Given the description of an element on the screen output the (x, y) to click on. 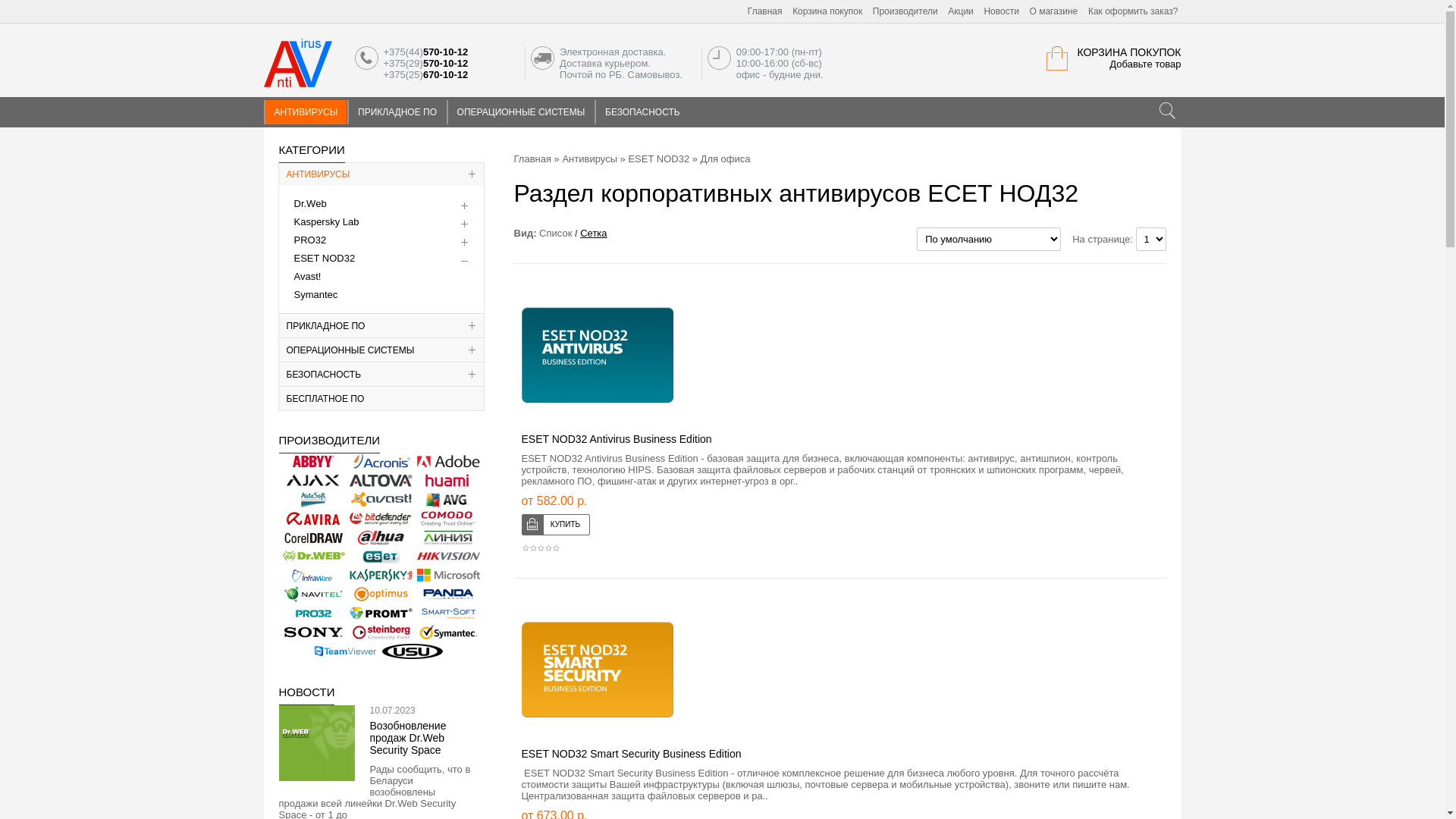
HIKVISION Element type: hover (448, 556)
BitDefender Element type: hover (380, 518)
ABBYY Element type: hover (313, 461)
Corel Element type: hover (313, 537)
Adobe Element type: hover (448, 461)
Amazfit Element type: hover (448, 480)
ESET NOD32 Element type: hover (380, 556)
Kaspersky Lab Element type: hover (380, 575)
Kaspersky Lab Element type: text (326, 221)
DevLine Element type: hover (448, 537)
Avast! Element type: text (307, 276)
Symantec Norton Element type: hover (448, 632)
Dahua Element type: hover (380, 537)
InfraWare Element type: hover (313, 575)
Optimus Element type: hover (380, 594)
SteinBerg Element type: hover (380, 632)
Microsoft Element type: hover (448, 575)
ESET NOD32 Element type: text (324, 257)
Panda Element type: hover (448, 594)
Autosoft Element type: hover (313, 499)
+375(44)570-10-12
+375(29)570-10-12
+375(25)670-10-12 Element type: text (439, 63)
AVG Element type: hover (448, 499)
PRO32 Element type: text (310, 239)
USU Element type: hover (411, 650)
Altova Element type: hover (380, 480)
Avast Element type: hover (380, 499)
Avira Element type: hover (313, 518)
Navitel Element type: hover (313, 594)
+375(44)570-10-12
+375(29)570-10-12
+375(25)670-10-12 Element type: hover (366, 58)
PRO32 Element type: hover (313, 613)
ESET NOD32 Element type: text (658, 158)
Symantec Element type: text (316, 294)
TeamViewer Element type: hover (344, 650)
ESET NOD32 Antivirus Business Edition Element type: text (616, 439)
SONY Element type: hover (313, 632)
ESET NOD32 Smart Security Business Edition Element type: text (631, 753)
ESET NOD32 Antivirus Business Edition Element type: hover (597, 354)
Doctor Web Element type: hover (313, 556)
Dr.Web Element type: text (310, 203)
AJAX Element type: hover (313, 480)
Comodo Element type: hover (448, 518)
Smart-Soft Element type: hover (448, 613)
Promt Element type: hover (380, 613)
ESET NOD32 Smart Security Business Edition Element type: hover (597, 669)
Acronis  Element type: hover (380, 461)
